Given the description of an element on the screen output the (x, y) to click on. 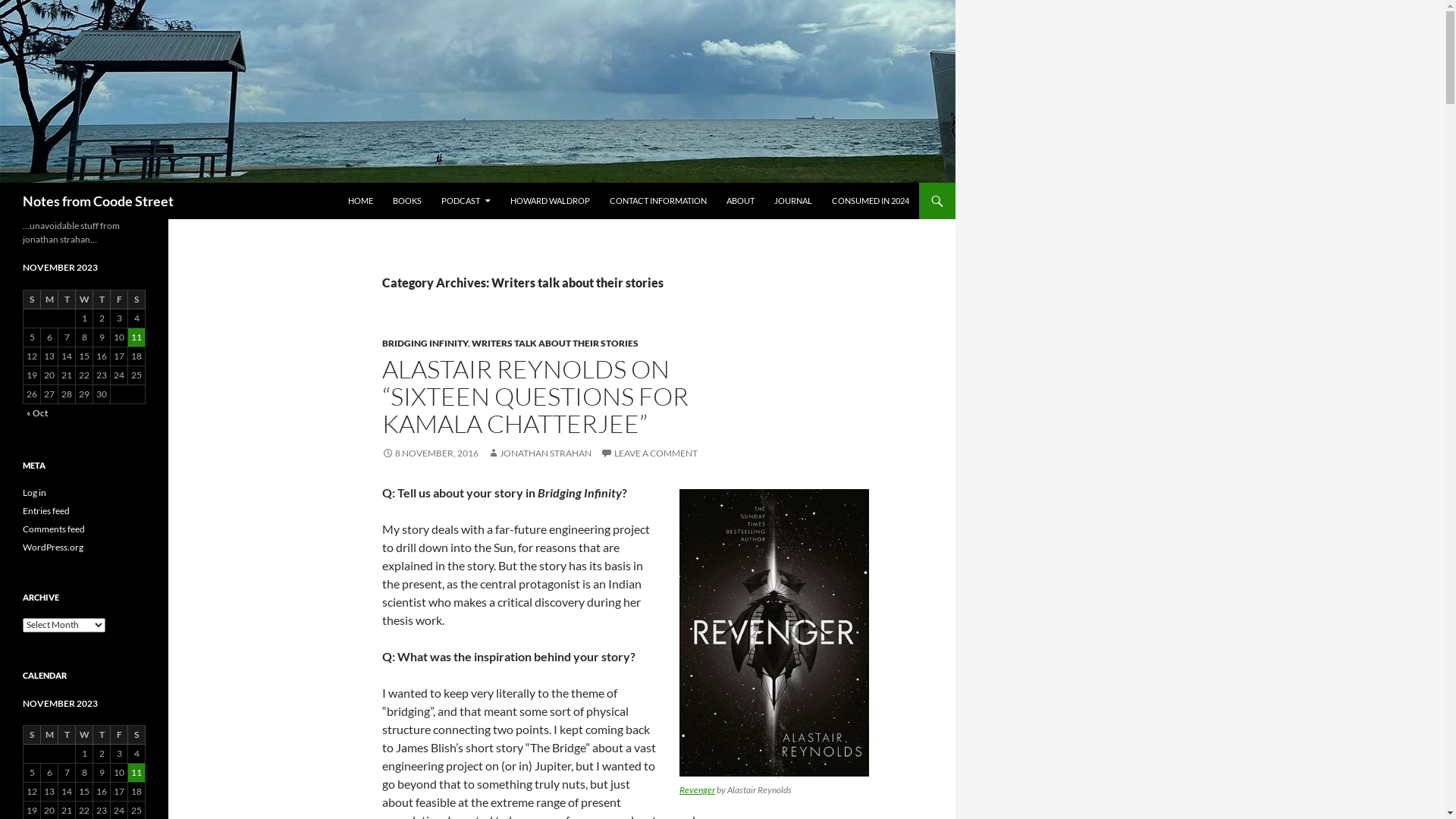
JOURNAL Element type: text (793, 200)
LEAVE A COMMENT Element type: text (648, 452)
SKIP TO CONTENT Element type: text (347, 182)
Revenger Element type: text (697, 789)
HOME Element type: text (360, 200)
8 NOVEMBER, 2016 Element type: text (430, 452)
PODCAST Element type: text (465, 200)
WordPress.org Element type: text (52, 546)
Entries feed Element type: text (45, 510)
11 Element type: text (136, 772)
Search Element type: text (3, 182)
11 Element type: text (136, 337)
Notes from Coode Street Element type: text (97, 200)
CONTACT INFORMATION Element type: text (657, 200)
JONATHAN STRAHAN Element type: text (539, 452)
ABOUT Element type: text (740, 200)
BRIDGING INFINITY Element type: text (424, 342)
Log in Element type: text (34, 492)
HOWARD WALDROP Element type: text (550, 200)
Comments feed Element type: text (53, 528)
CONSUMED IN 2024 Element type: text (870, 200)
BOOKS Element type: text (406, 200)
WRITERS TALK ABOUT THEIR STORIES Element type: text (554, 342)
